Given the description of an element on the screen output the (x, y) to click on. 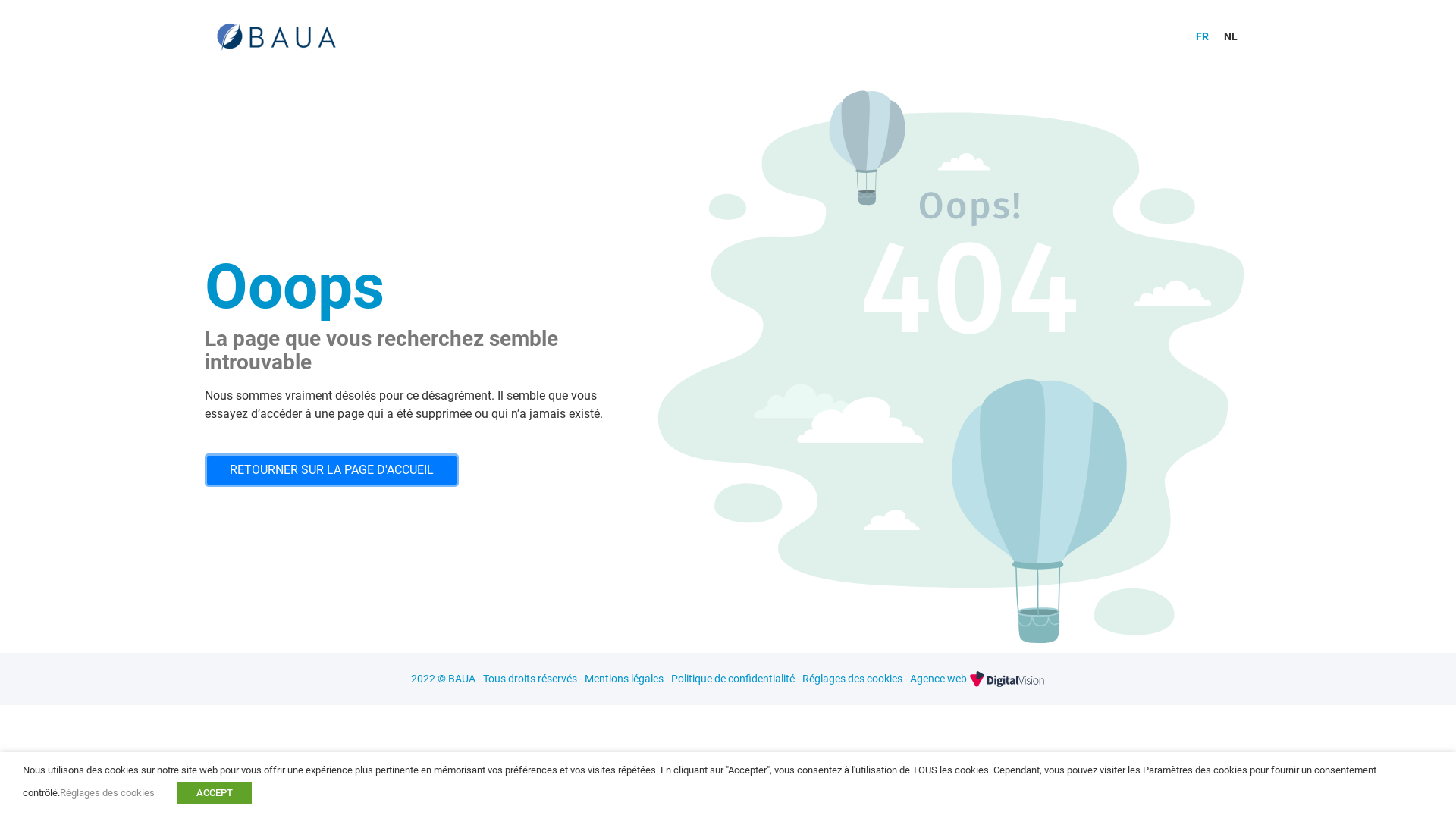
NL Element type: text (1230, 36)
FR Element type: text (1202, 36)
ACCEPT Element type: text (214, 792)
RETOURNER SUR LA PAGE D'ACCUEIL Element type: text (331, 469)
